Given the description of an element on the screen output the (x, y) to click on. 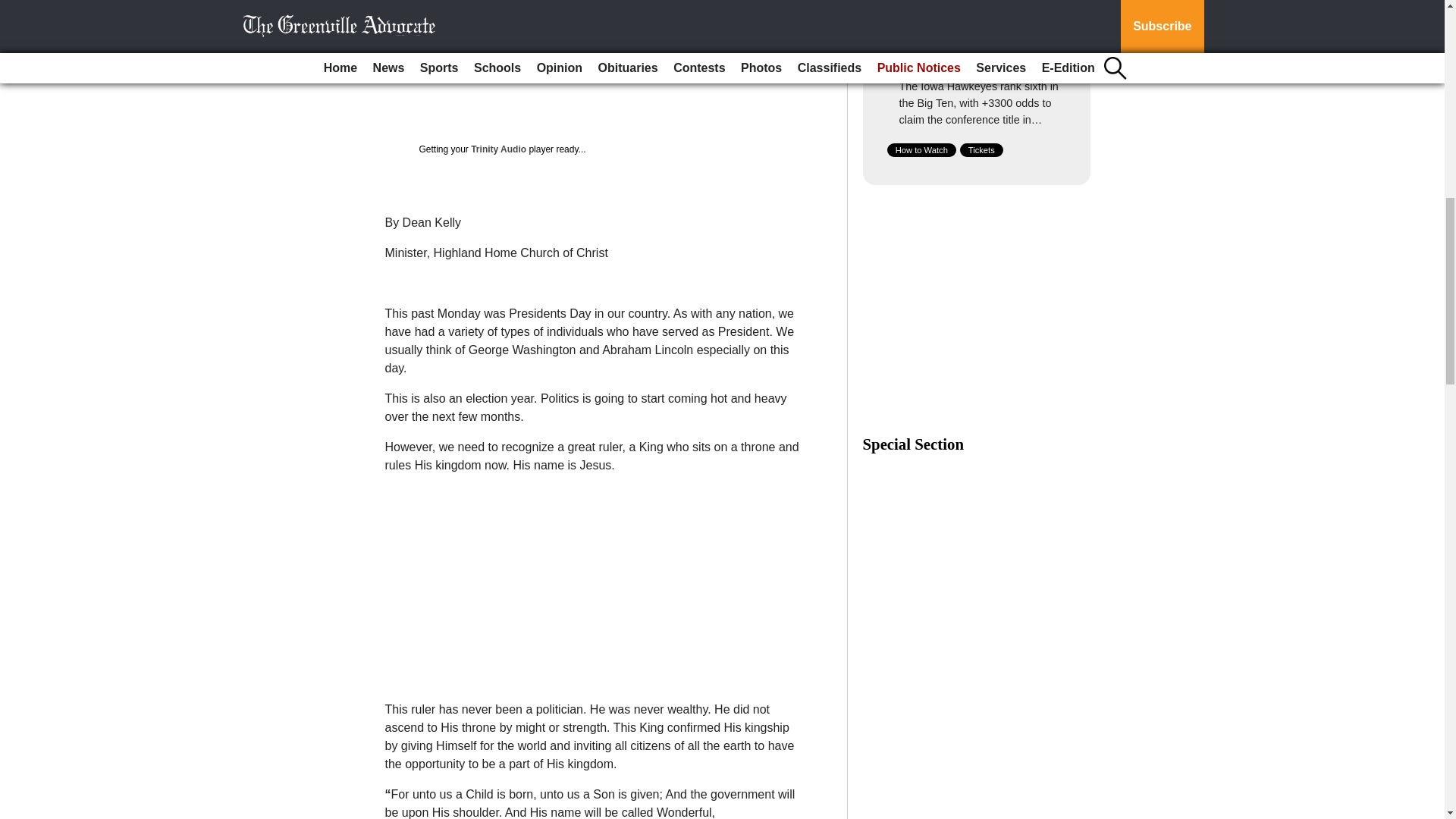
Trinity Audio (497, 149)
